Given the description of an element on the screen output the (x, y) to click on. 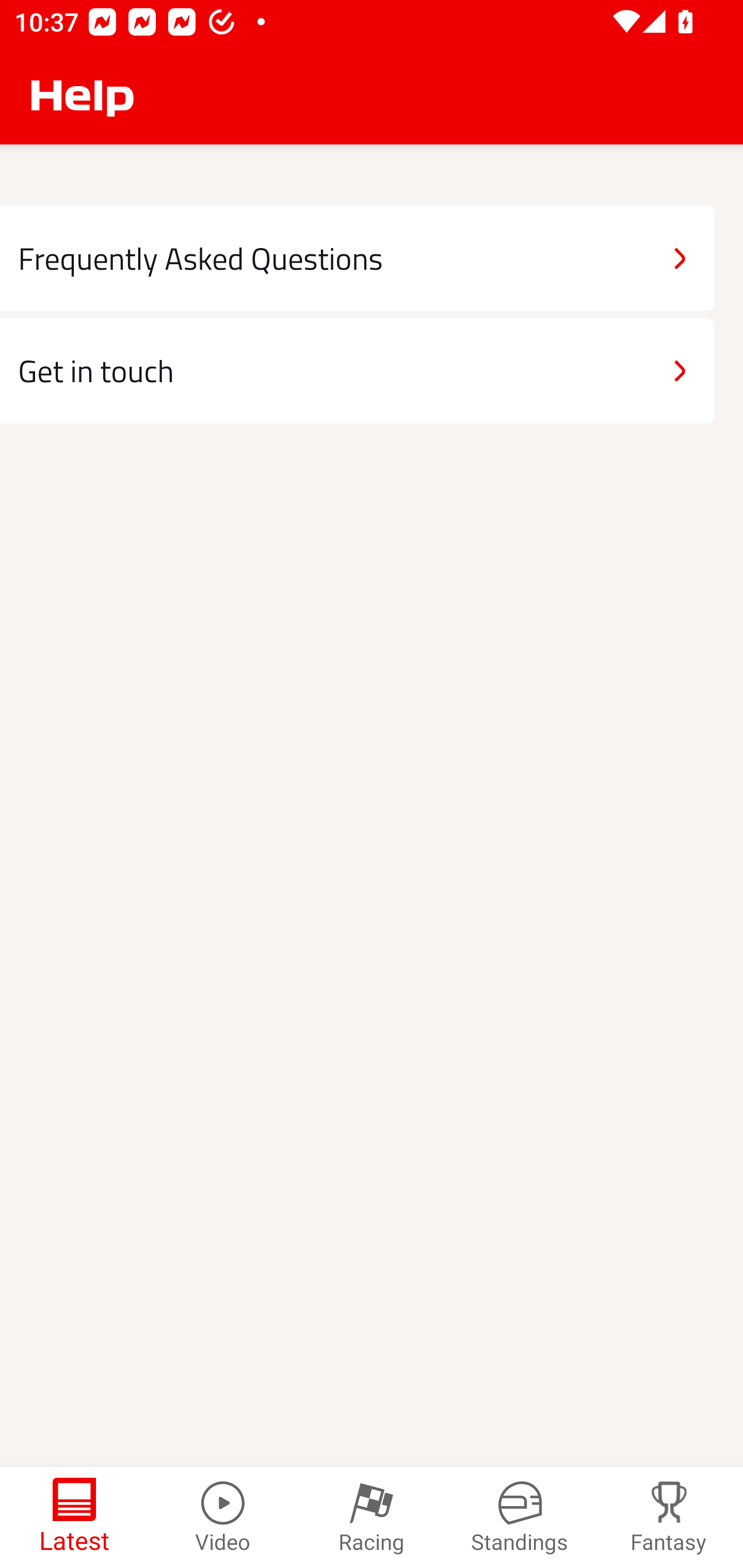
Frequently Asked Questions (357, 257)
Get in touch (357, 370)
Video (222, 1517)
Racing (371, 1517)
Standings (519, 1517)
Fantasy (668, 1517)
